Given the description of an element on the screen output the (x, y) to click on. 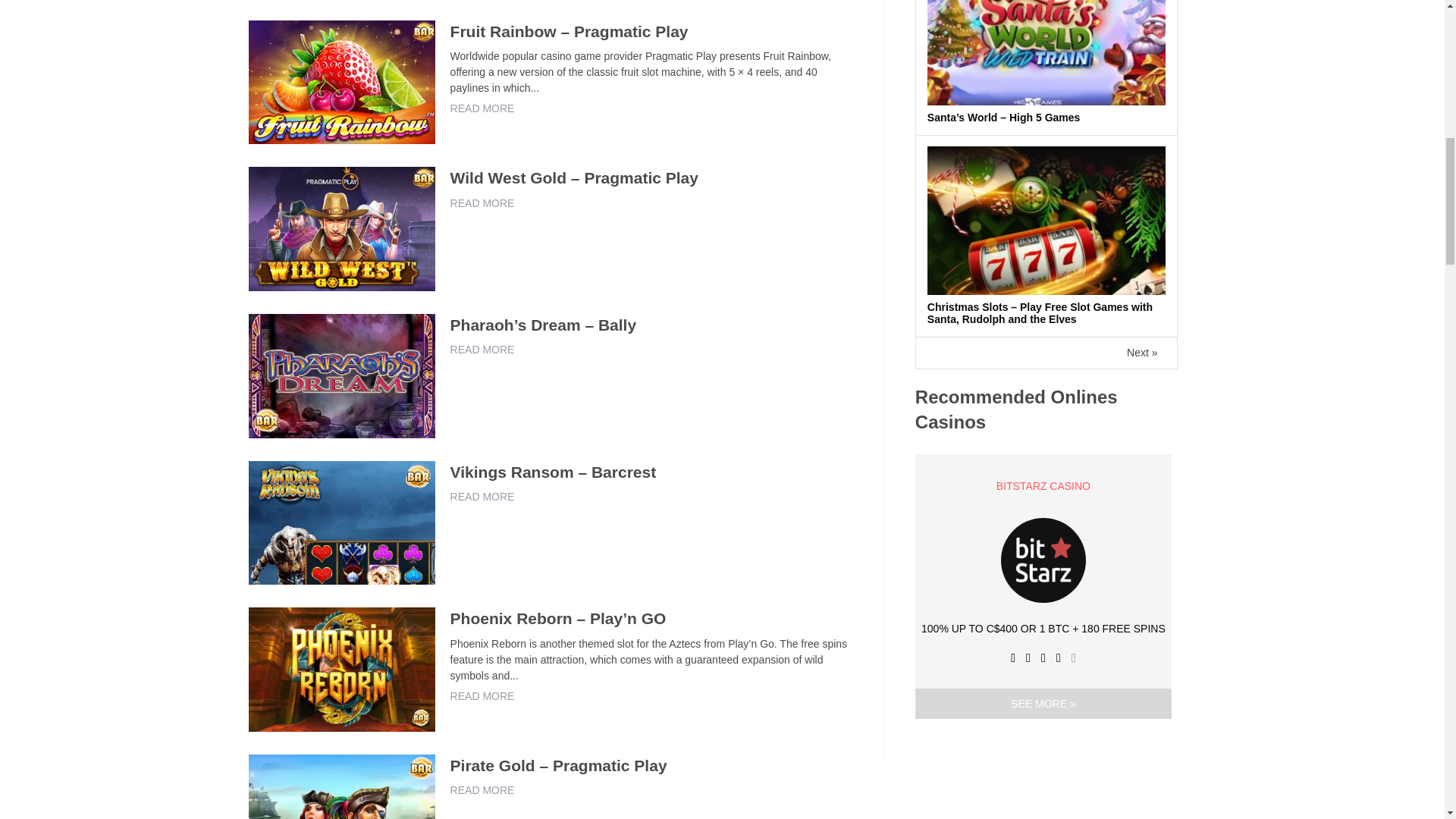
READ MORE (482, 203)
READ MORE (482, 496)
READ MORE (482, 108)
READ MORE (482, 349)
